Given the description of an element on the screen output the (x, y) to click on. 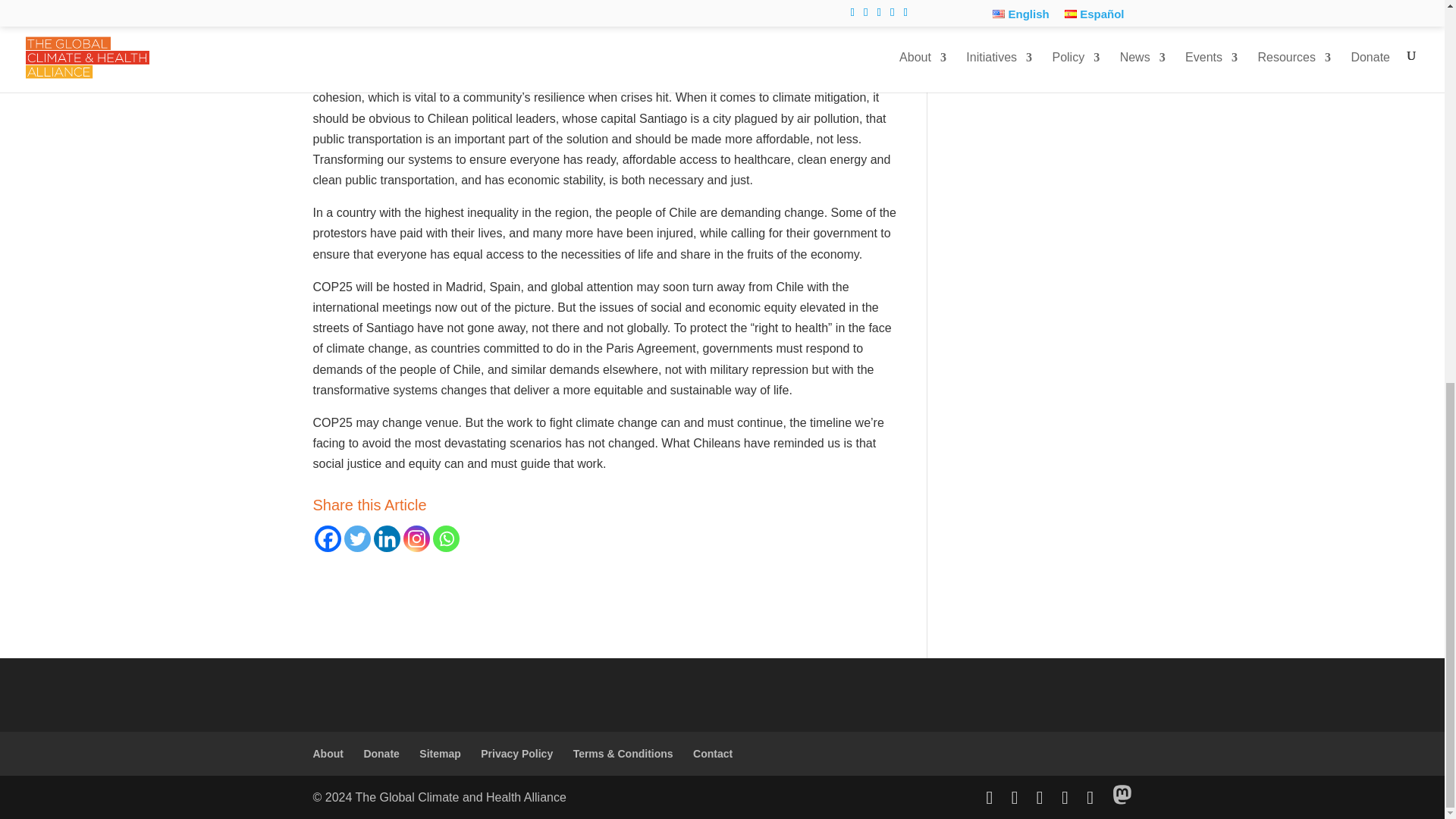
Whatsapp (445, 538)
Instagram (416, 538)
Facebook (327, 538)
Twitter (357, 538)
Linkedin (385, 538)
